Given the description of an element on the screen output the (x, y) to click on. 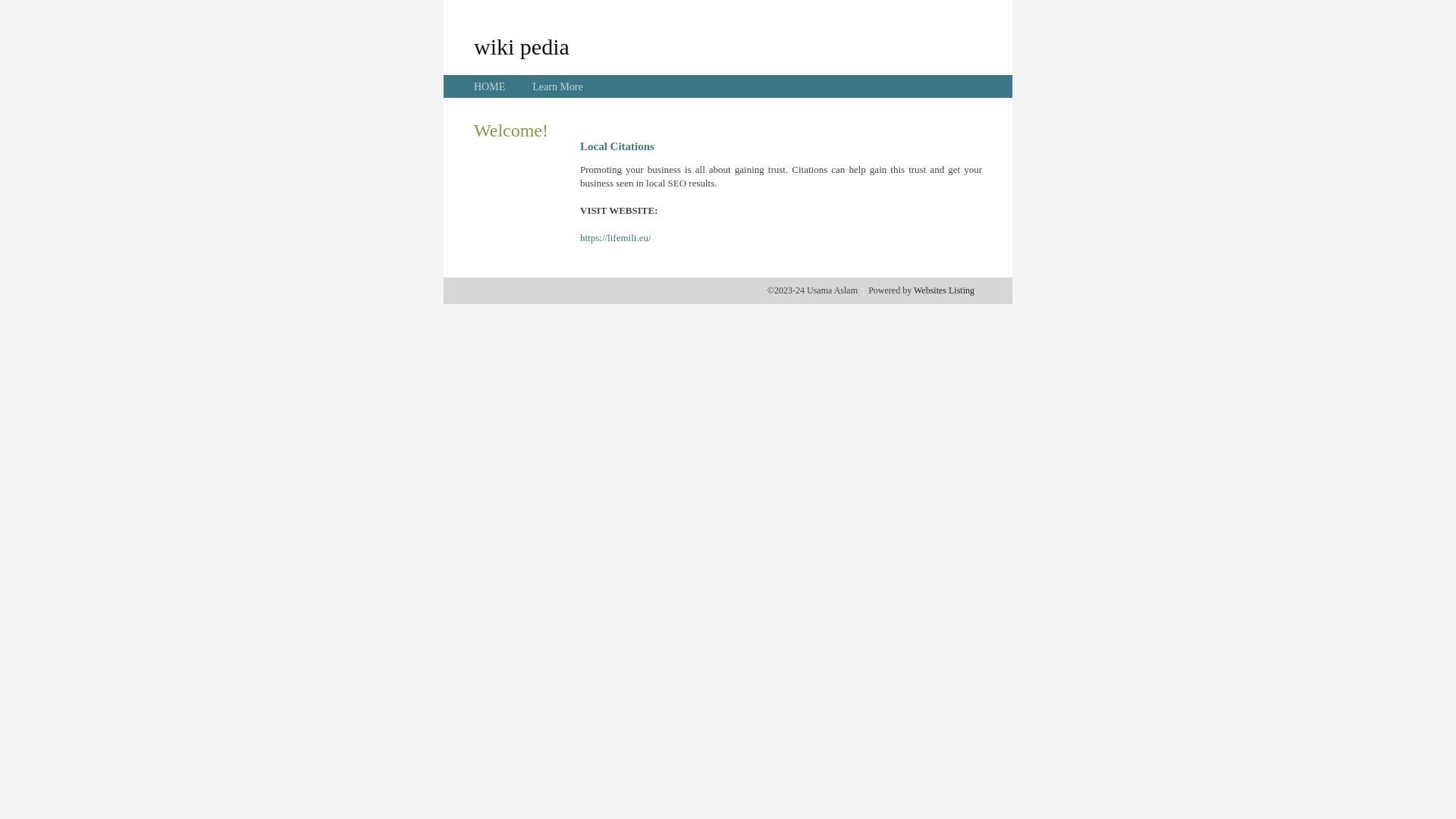
Learn More Element type: text (557, 86)
HOME Element type: text (489, 86)
Websites Listing Element type: text (943, 290)
https://lifemili.eu/ Element type: text (615, 237)
wiki pedia Element type: text (521, 46)
